Given the description of an element on the screen output the (x, y) to click on. 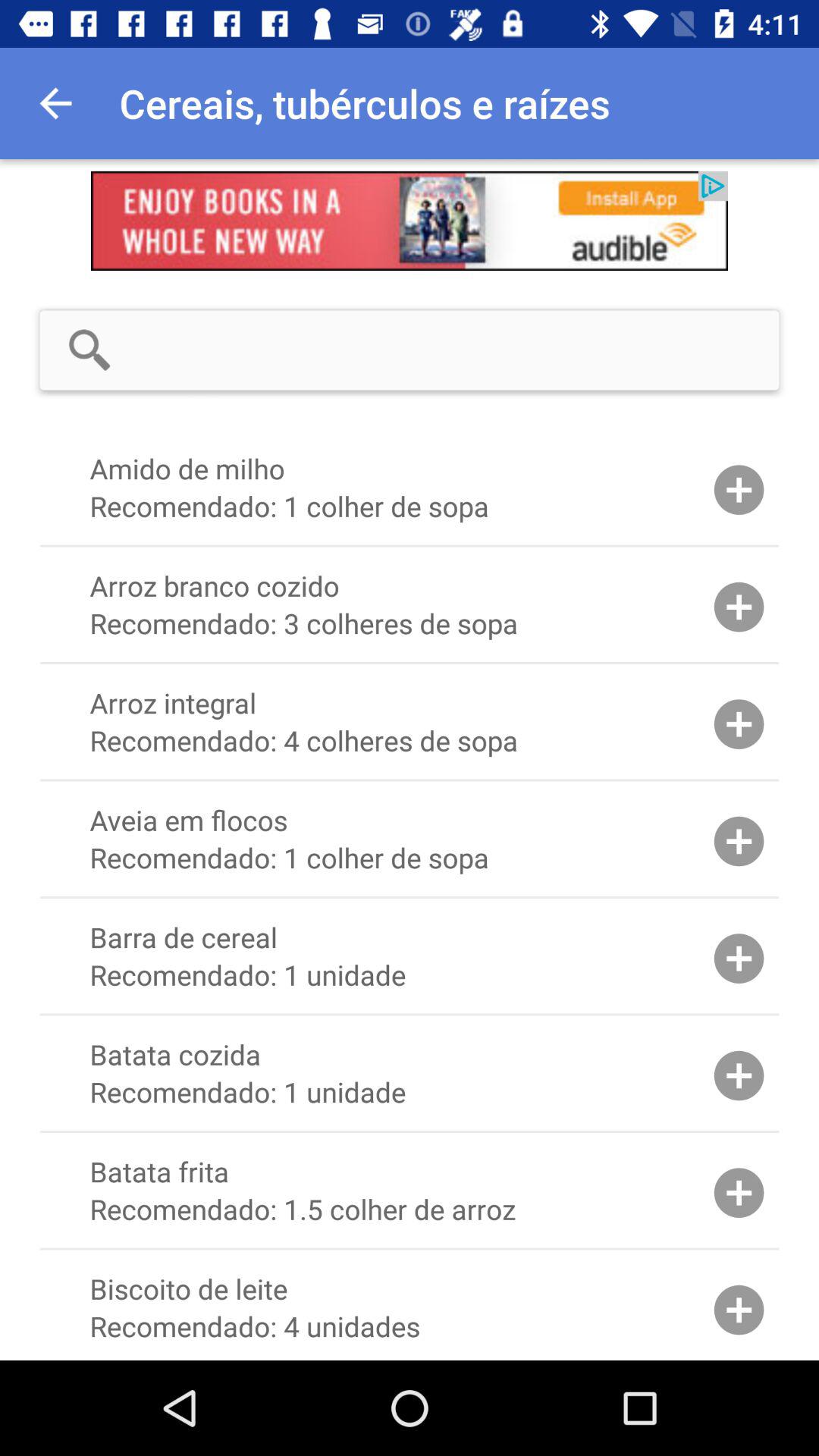
search (459, 350)
